Given the description of an element on the screen output the (x, y) to click on. 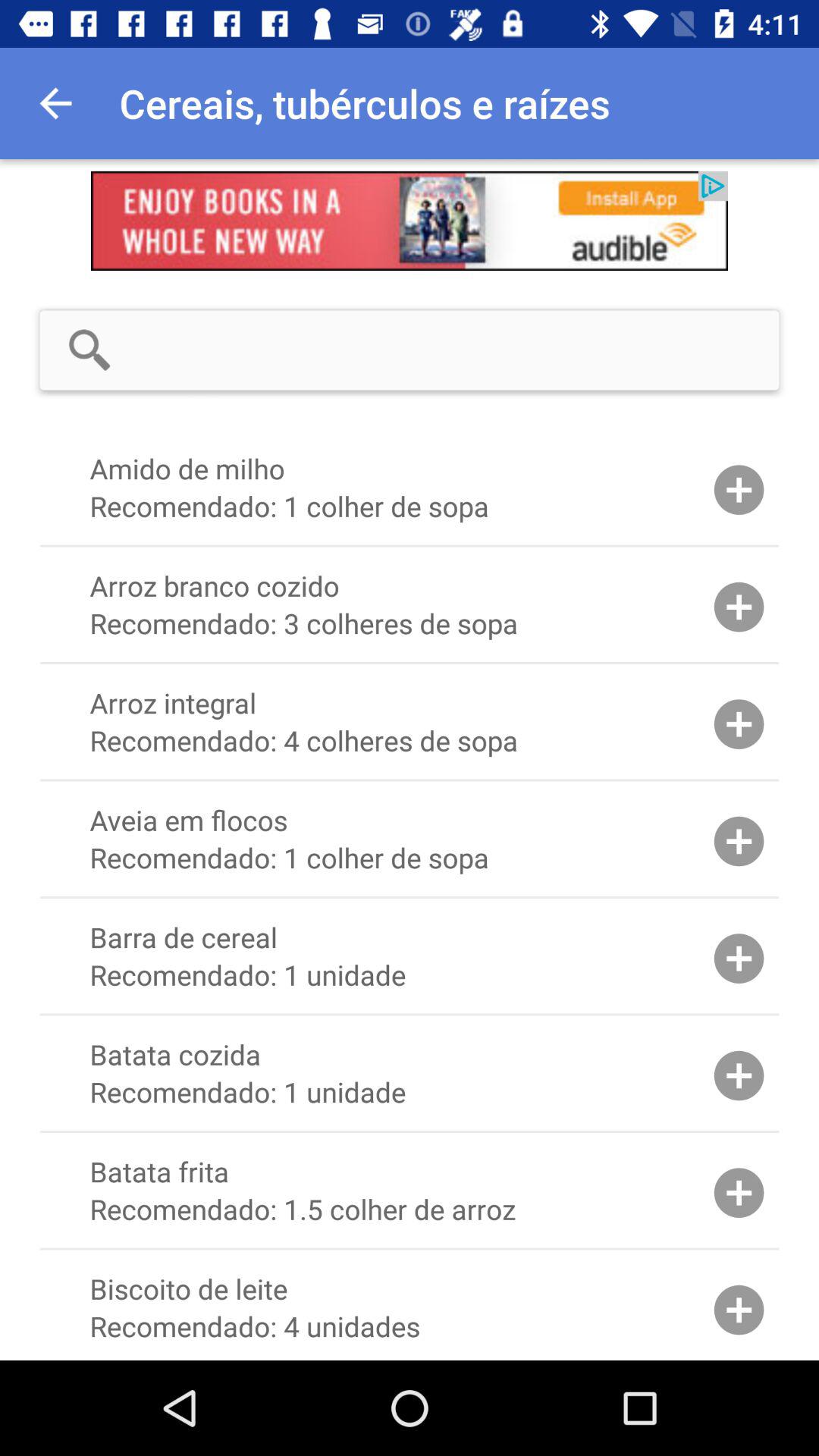
search (459, 350)
